Given the description of an element on the screen output the (x, y) to click on. 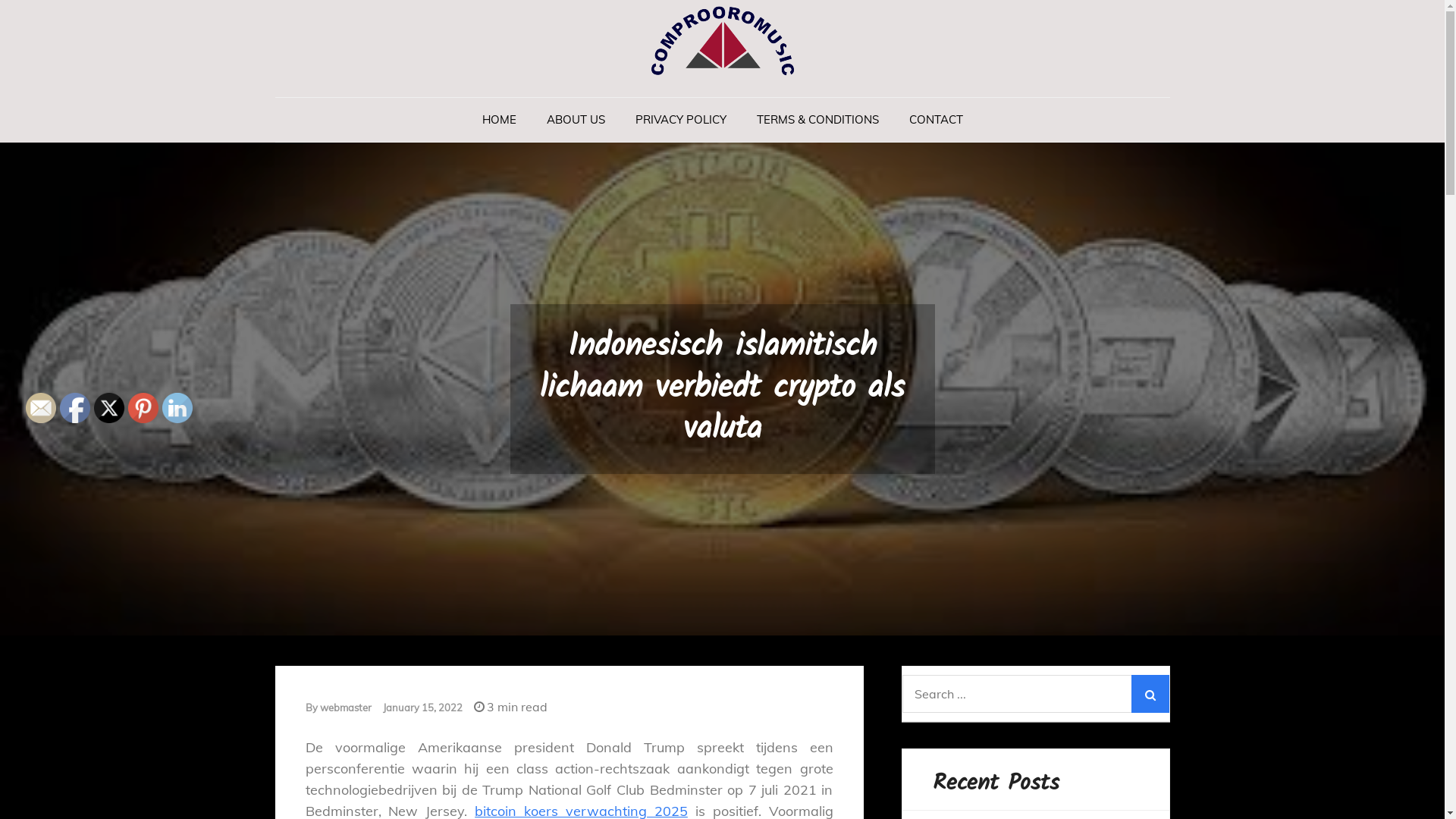
January 15, 2022 Element type: text (421, 707)
Pinterest Element type: hover (143, 407)
HOME Element type: text (499, 119)
Search Element type: text (1150, 693)
CONTACT Element type: text (934, 119)
Facebook Element type: hover (74, 407)
LinkedIn Element type: hover (177, 407)
TERMS & CONDITIONS Element type: text (817, 119)
PRIVACY POLICY Element type: text (680, 119)
webmaster Element type: text (345, 707)
Twitter Element type: hover (109, 407)
Search for: Element type: hover (1035, 693)
ABOUT US Element type: text (575, 119)
Follow by Email Element type: hover (40, 407)
Comprooromusic Element type: text (399, 113)
